Given the description of an element on the screen output the (x, y) to click on. 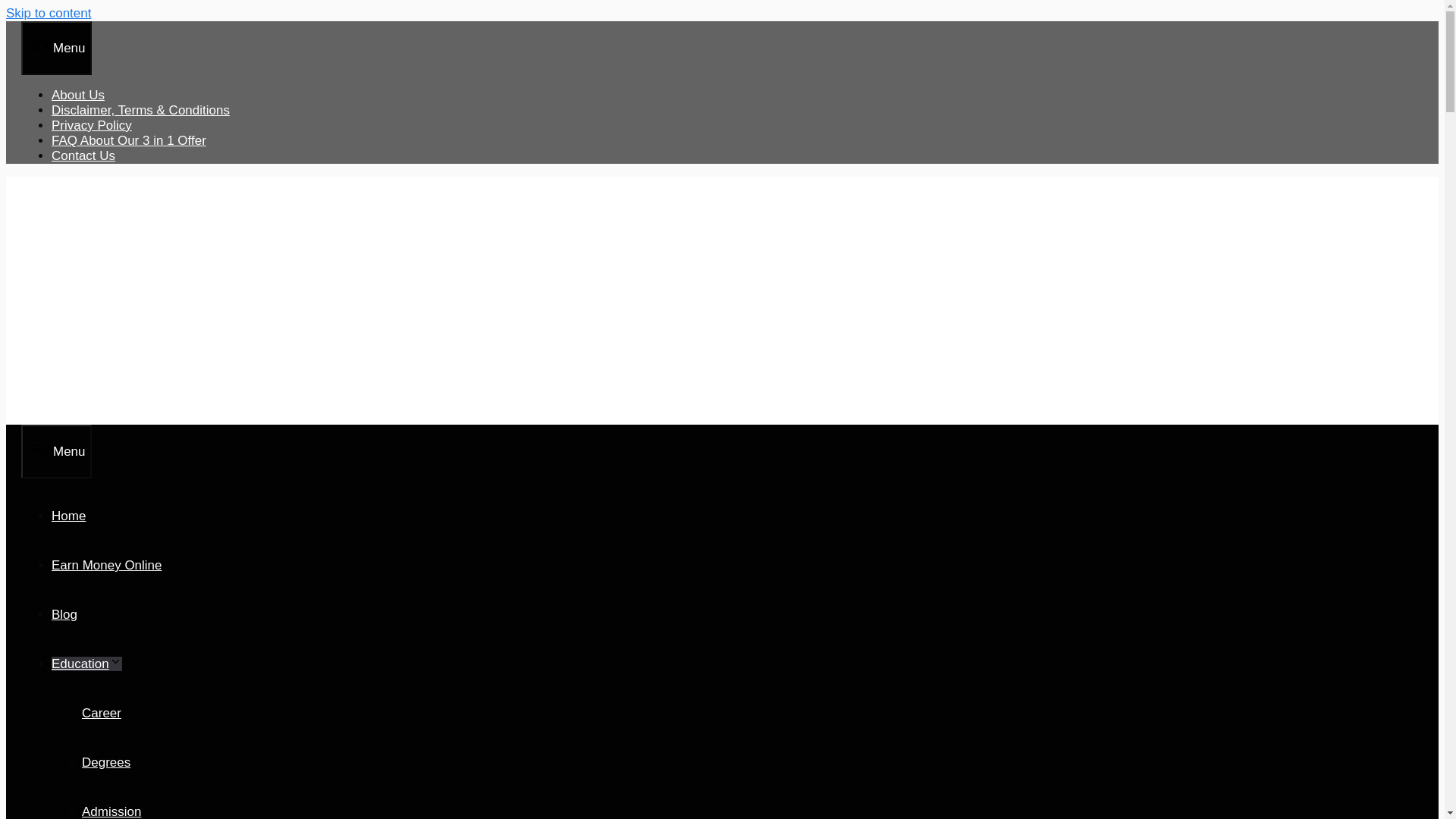
Contact Us (82, 155)
Earn Money Online (105, 564)
Skip to content (47, 12)
Skip to content (47, 12)
Degrees (106, 762)
About Us (77, 94)
Career (100, 712)
Home (67, 515)
Menu (56, 48)
Education (86, 663)
Menu (56, 451)
Admission (111, 811)
Privacy Policy (91, 124)
Blog (63, 614)
FAQ About Our 3 in 1 Offer (128, 140)
